Given the description of an element on the screen output the (x, y) to click on. 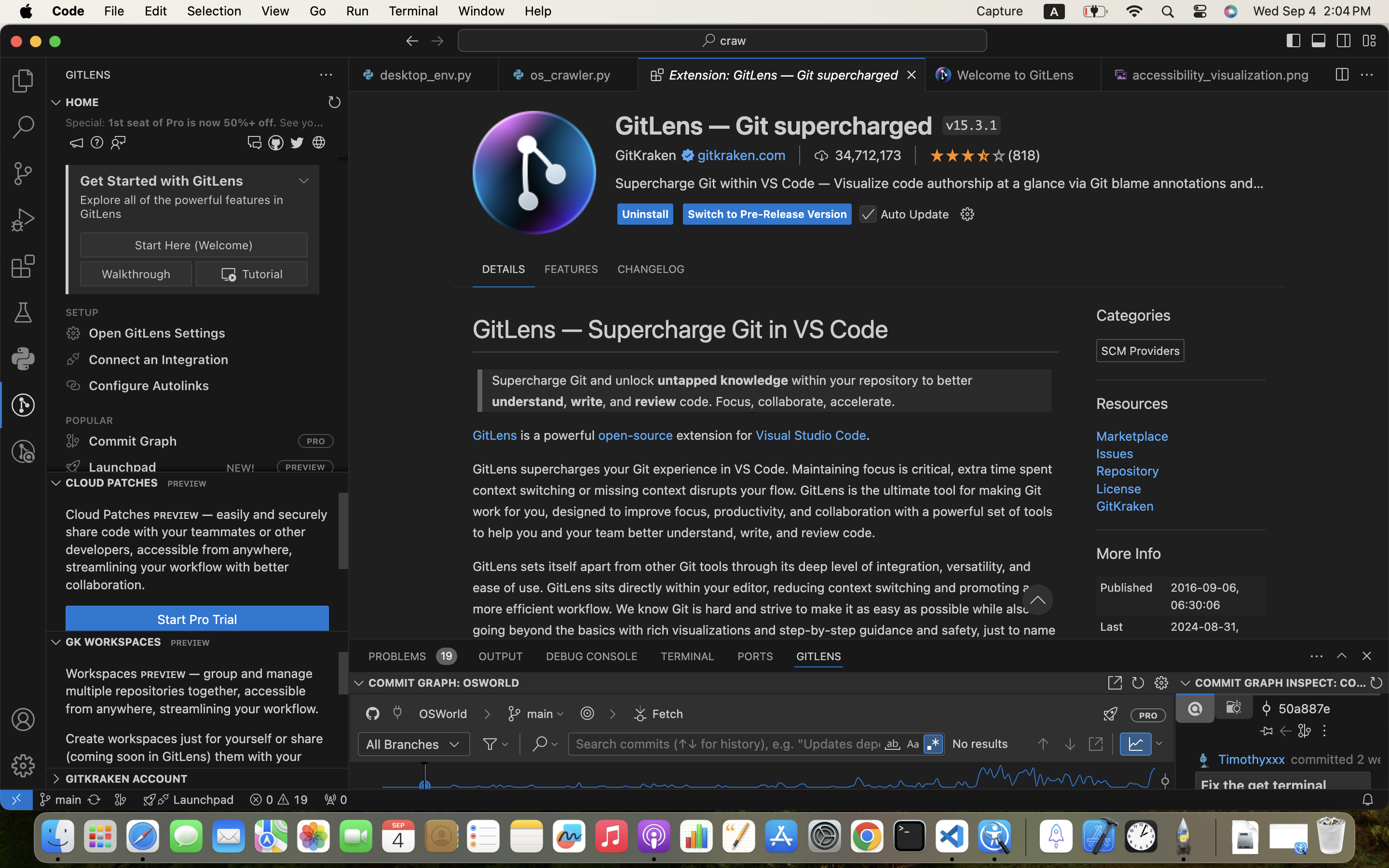
or Element type: AXStaticText (1144, 426)
ACTIVITY BAR Element type: AXStaticText (1080, 492)
 Element type: AXStaticText (1053, 538)
 Element type: AXCheckBox (1293, 40)
gitlens Element type: AXStaticText (763, 586)
